Given the description of an element on the screen output the (x, y) to click on. 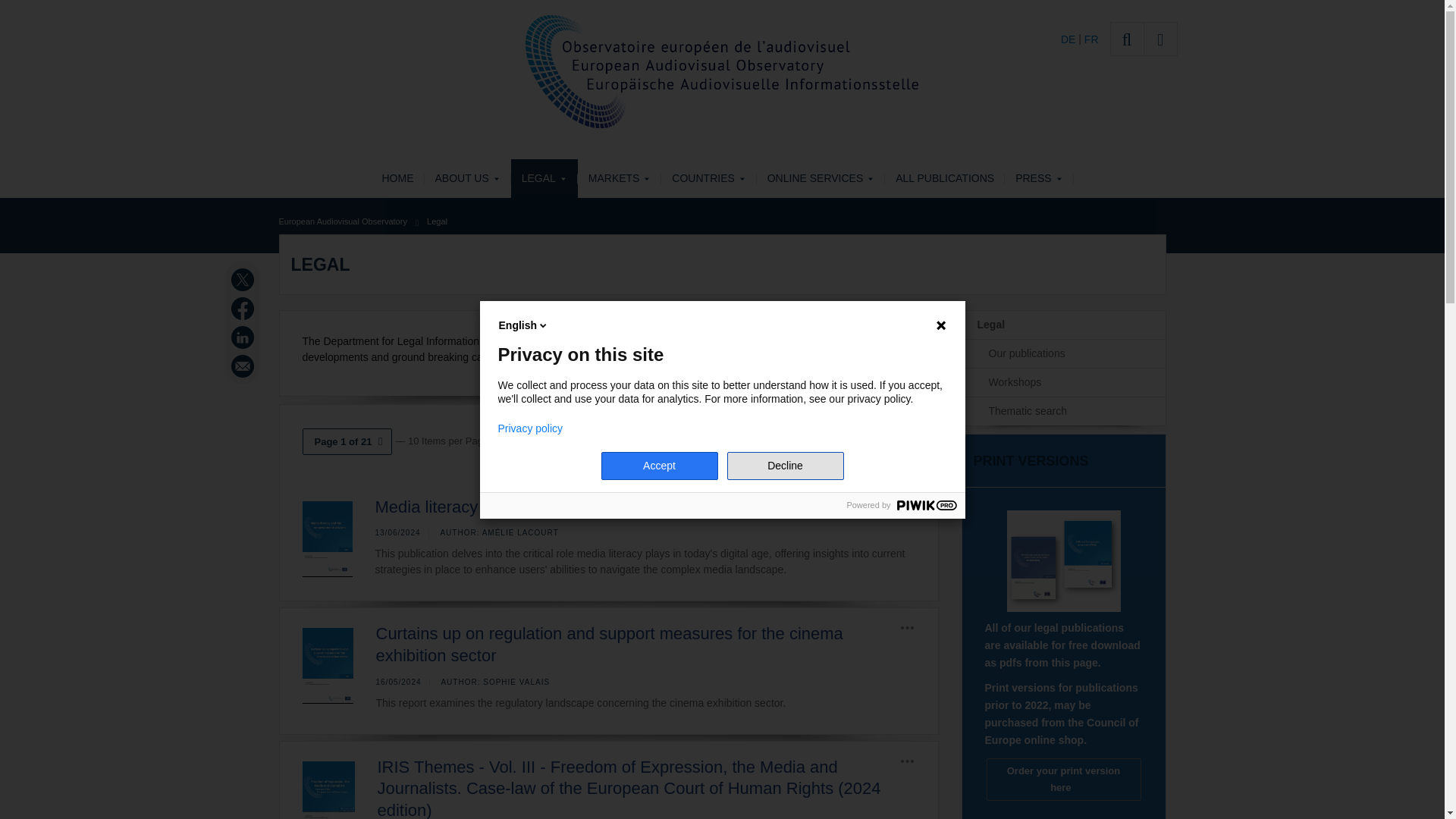
Page 1 of 21 (346, 441)
Share on Facebook (244, 308)
LEGAL (544, 178)
Share on Linkedin (244, 336)
HOME (398, 178)
ABOUT US (468, 178)
DE (1069, 39)
FR (1091, 39)
Send this page (244, 365)
